Given the description of an element on the screen output the (x, y) to click on. 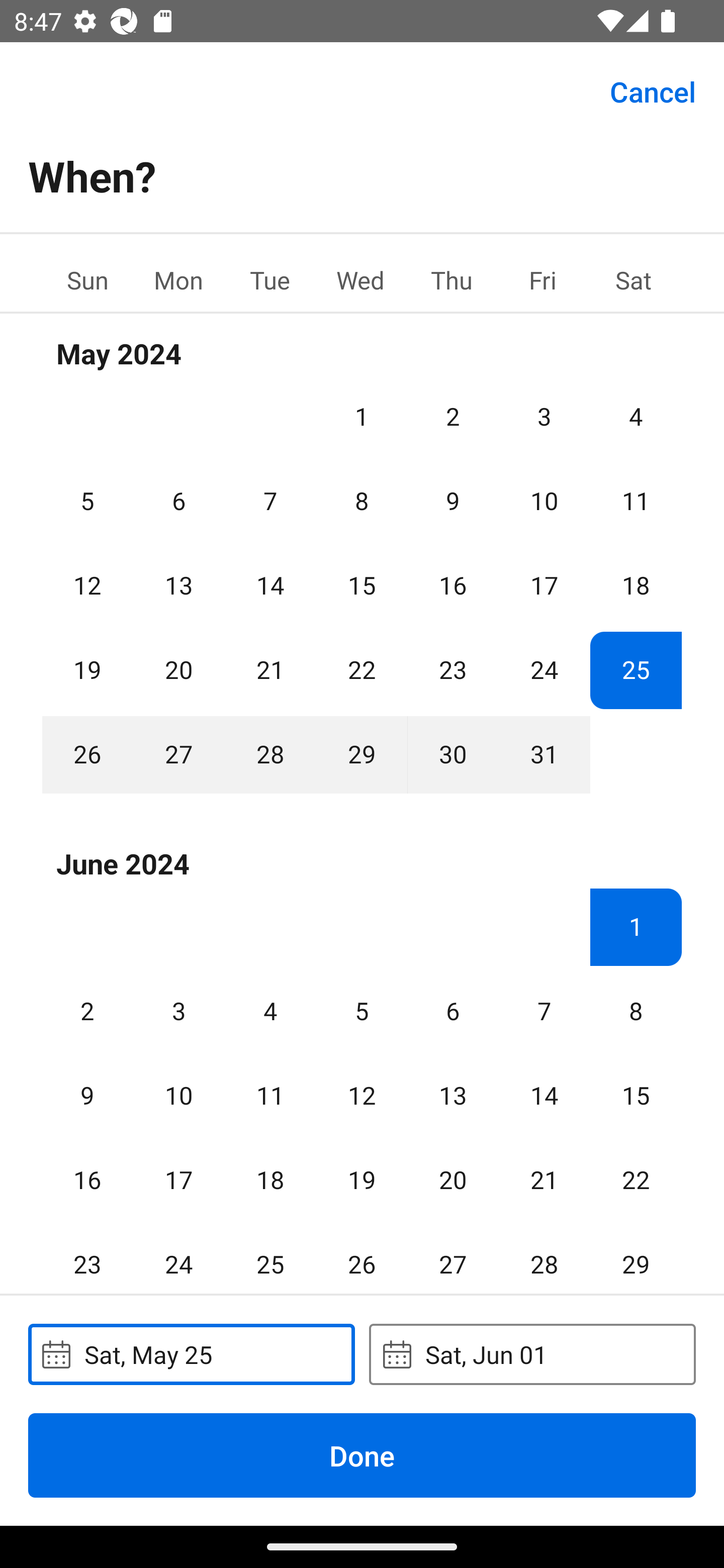
Cancel (652, 90)
Sat, May 25 (191, 1353)
Sat, Jun 01 (532, 1353)
Done (361, 1454)
